Given the description of an element on the screen output the (x, y) to click on. 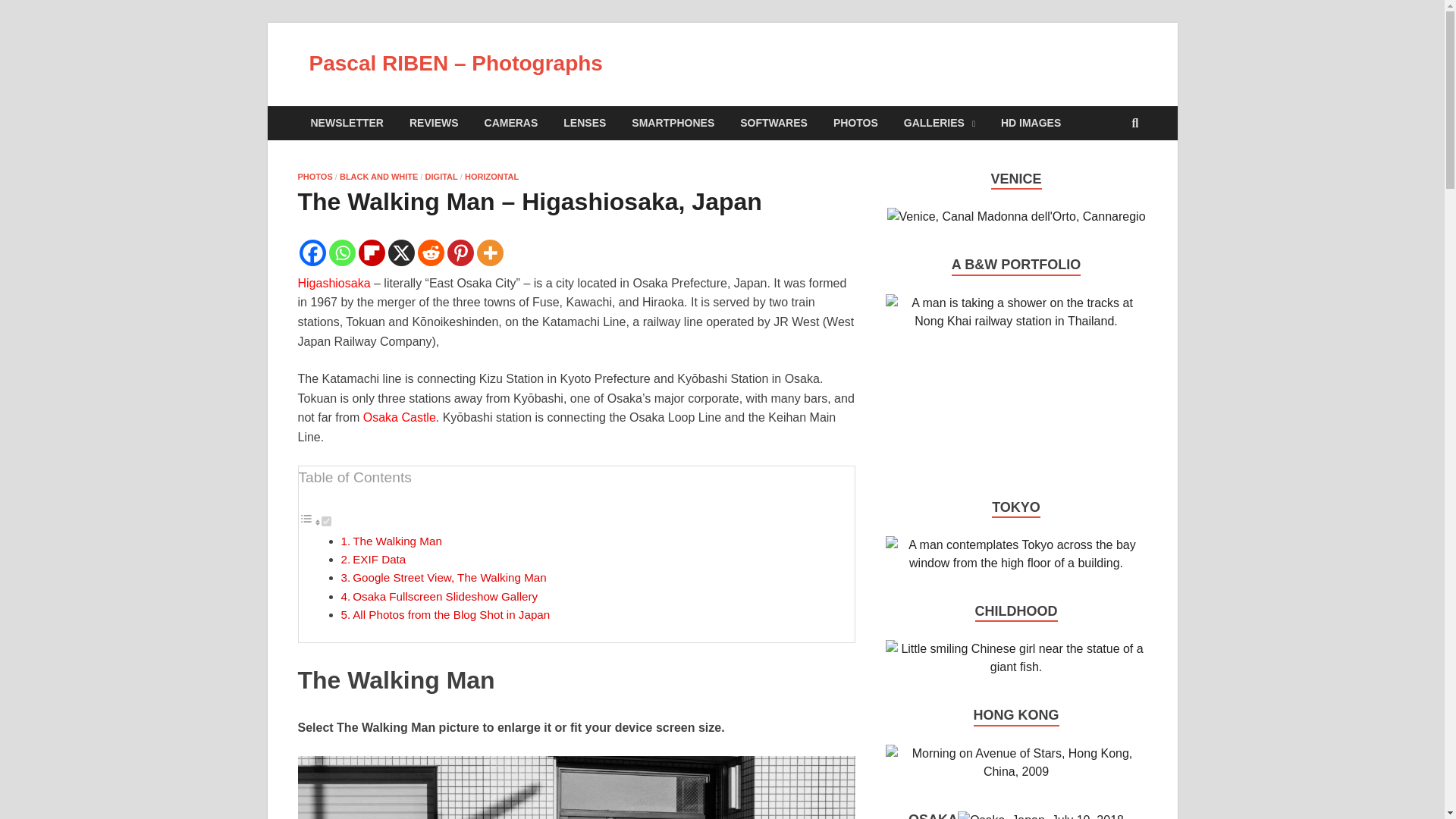
Facebook (311, 252)
GALLERIES (939, 123)
Osaka Fullscreen Slideshow Gallery (444, 595)
Whatsapp (342, 252)
All Photos from the Blog Shot in Japan (451, 614)
NEWSLETTER (346, 123)
X (401, 252)
Reddit (430, 252)
PHOTOS (856, 123)
on (326, 521)
